Given the description of an element on the screen output the (x, y) to click on. 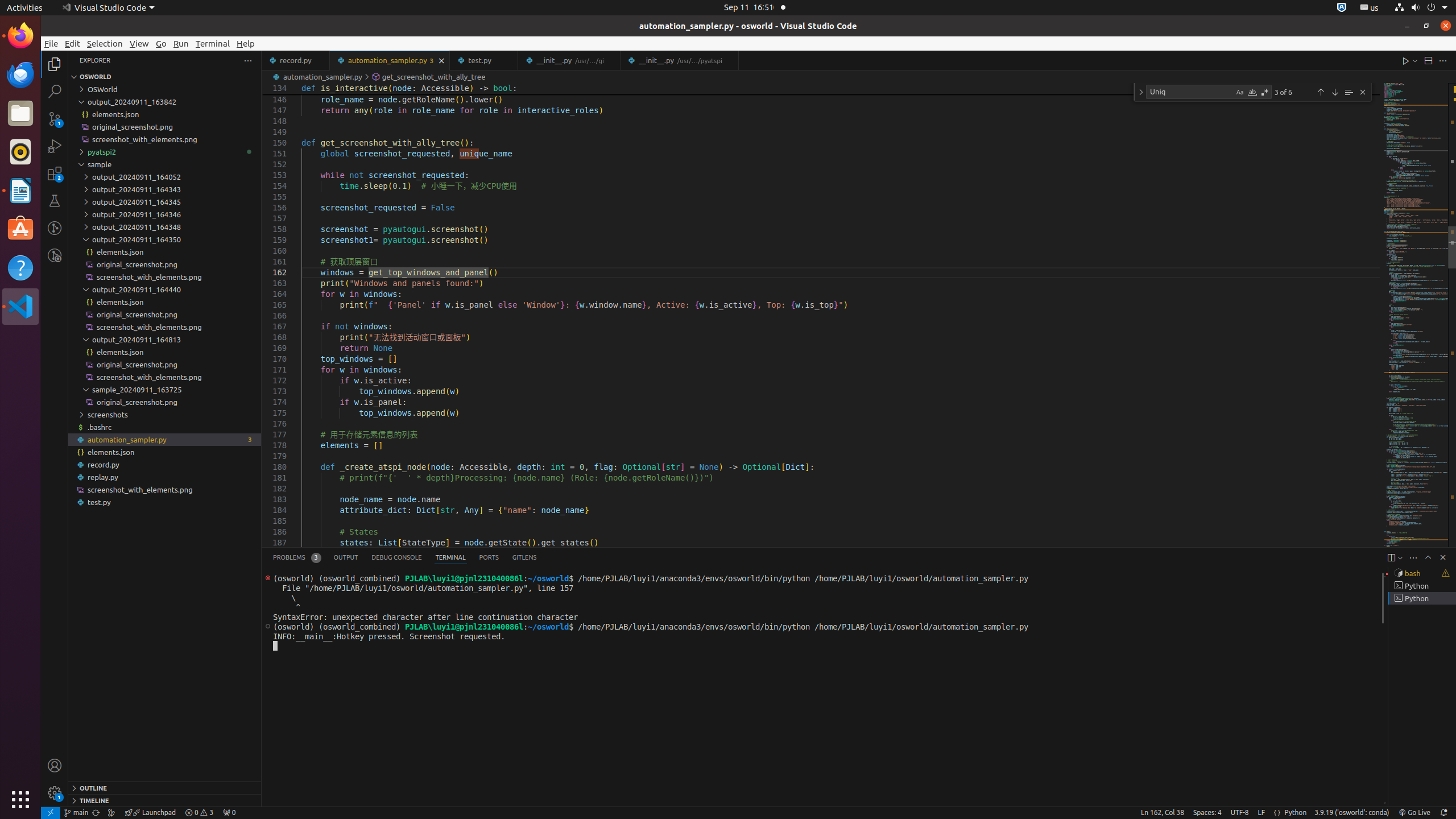
test.py Element type: tree-item (164, 501)
broadcast Go Live, Click to run live server Element type: push-button (1414, 812)
original_screenshot.png Element type: tree-item (164, 401)
Maximize Panel Size Element type: check-box (1427, 557)
GitLens Inspect Element type: page-tab (54, 255)
